Given the description of an element on the screen output the (x, y) to click on. 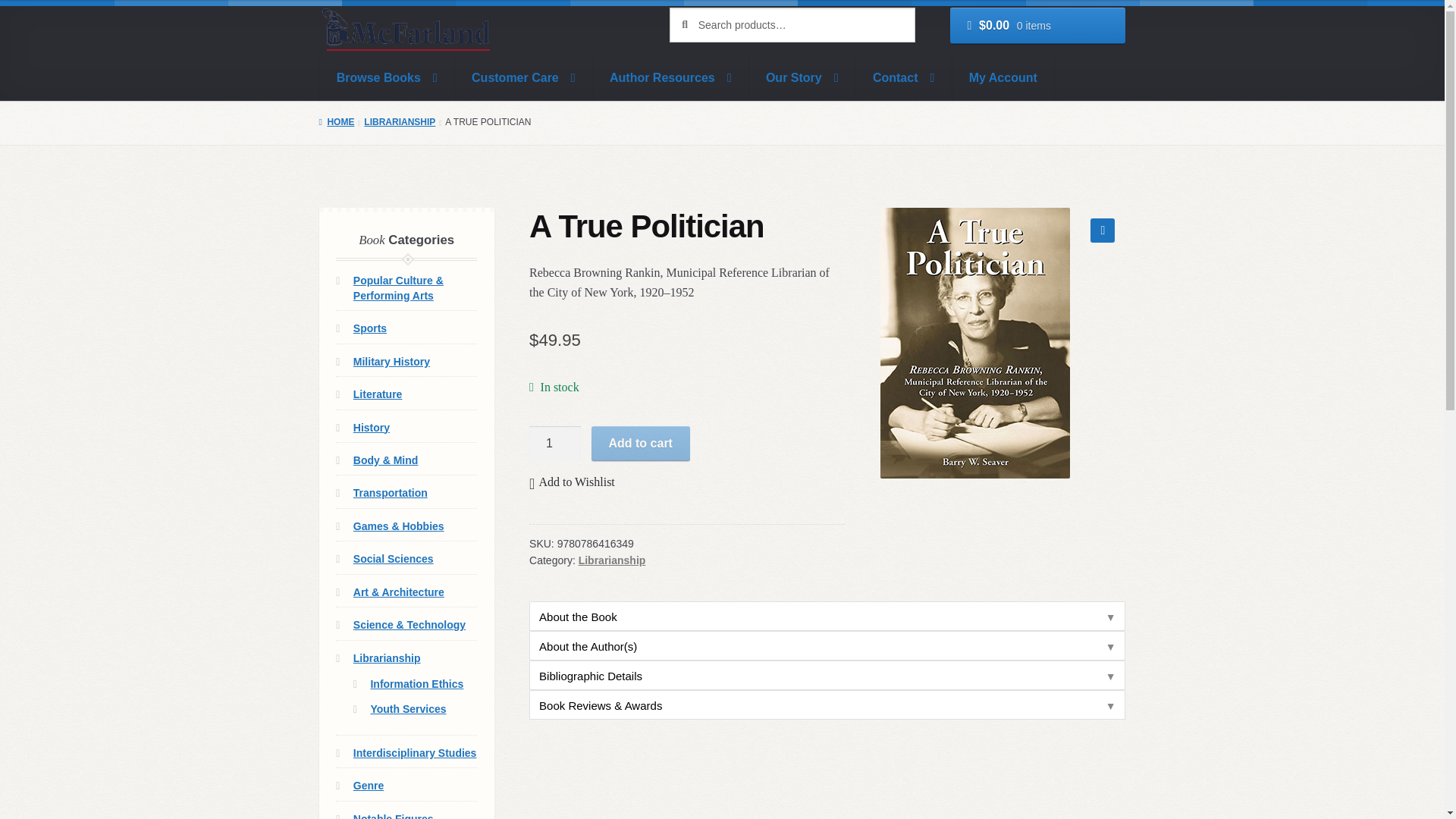
View your shopping cart (1037, 25)
Browse Books (386, 77)
1 (554, 443)
